Given the description of an element on the screen output the (x, y) to click on. 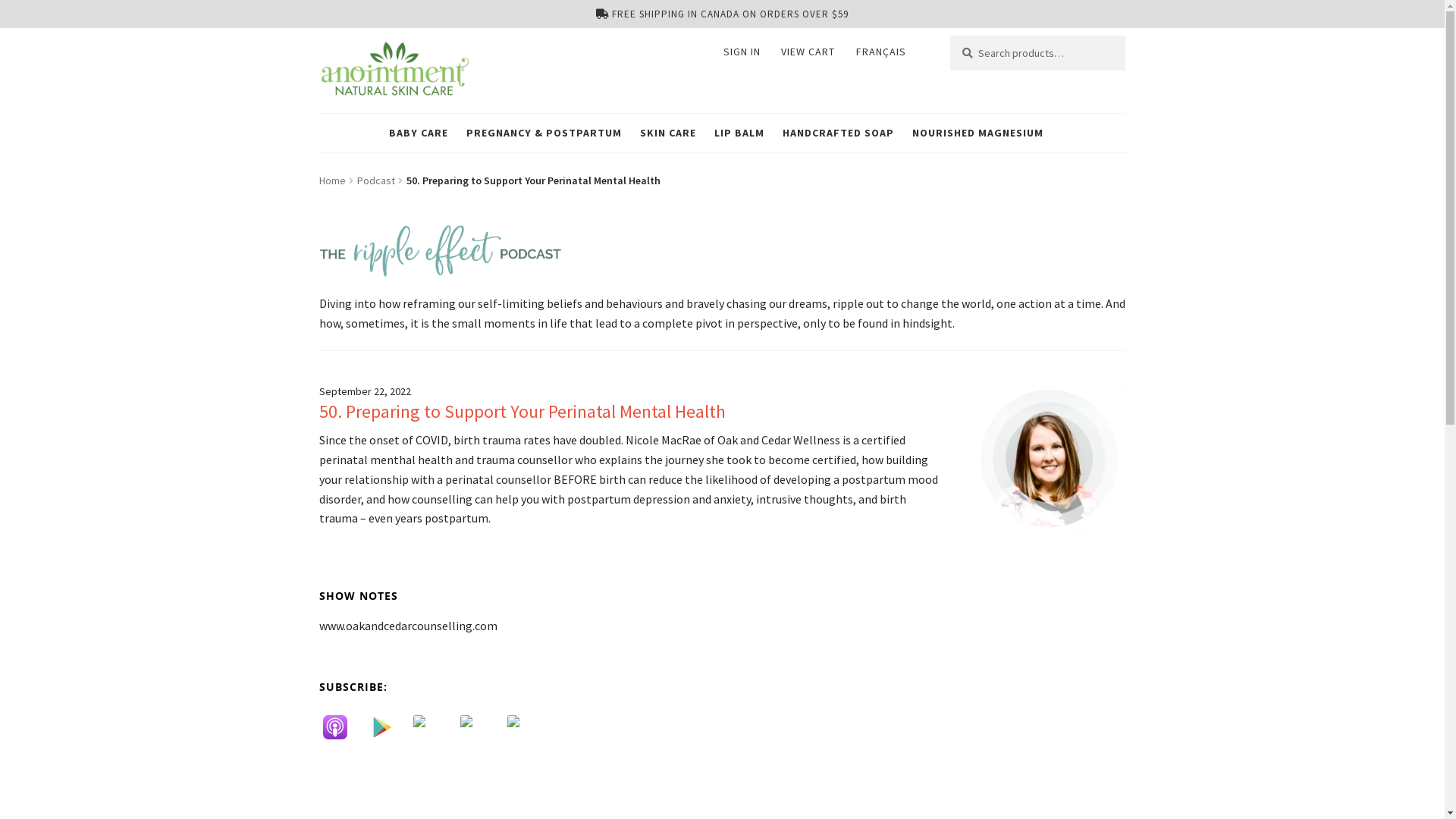
Home Element type: text (332, 180)
RSS Element type: hover (523, 727)
Submit Element type: text (36, 15)
Spotify Element type: hover (436, 727)
LIP BALM Element type: text (739, 132)
HANDCRAFTED SOAP Element type: text (838, 132)
Stitcher Element type: hover (483, 727)
NOURISHED MAGNESIUM Element type: text (977, 132)
Google-Play Element type: hover (389, 727)
BABY CARE Element type: text (417, 132)
Apple-Podcasts Element type: hover (342, 727)
PREGNANCY & POSTPARTUM Element type: text (543, 132)
50. Preparing to Support Your Perinatal Mental Health Element type: text (522, 411)
Skip to navigation Element type: text (318, 34)
SEARCH Element type: text (949, 34)
VIEW CART Element type: text (807, 51)
SIGN IN Element type: text (741, 51)
Podcast Element type: text (376, 180)
SKIN CARE Element type: text (668, 132)
